Given the description of an element on the screen output the (x, y) to click on. 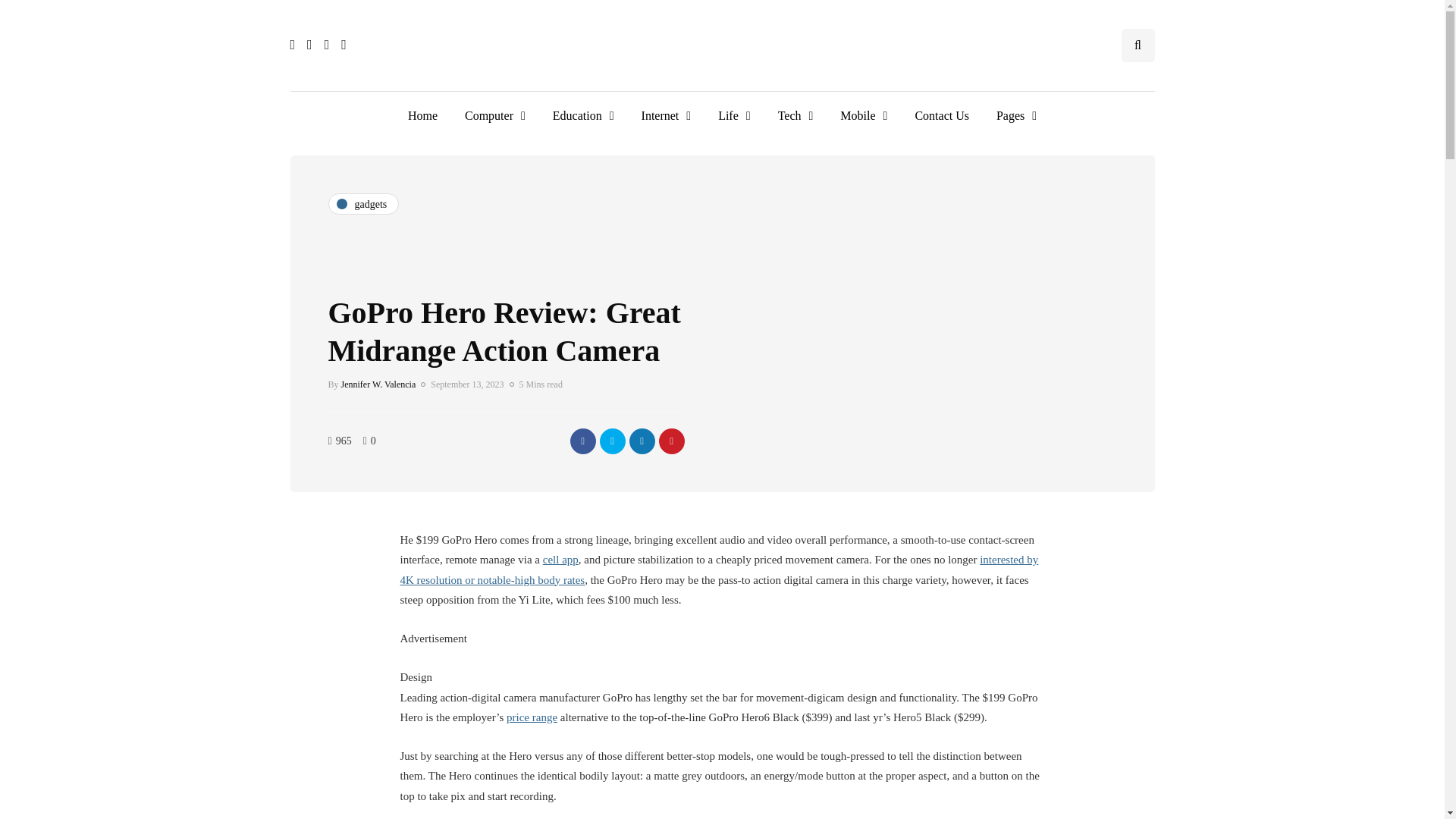
Share with Facebook (582, 440)
Home (422, 115)
Share with LinkedIn (641, 440)
Computer (494, 115)
Life (734, 115)
Education (582, 115)
Internet (665, 115)
Tweet this (611, 440)
Pages (1015, 115)
Tech (795, 115)
Mobile (864, 115)
Contact Us (941, 115)
Posts by Jennifer W. Valencia (378, 384)
Pin this (671, 440)
